Given the description of an element on the screen output the (x, y) to click on. 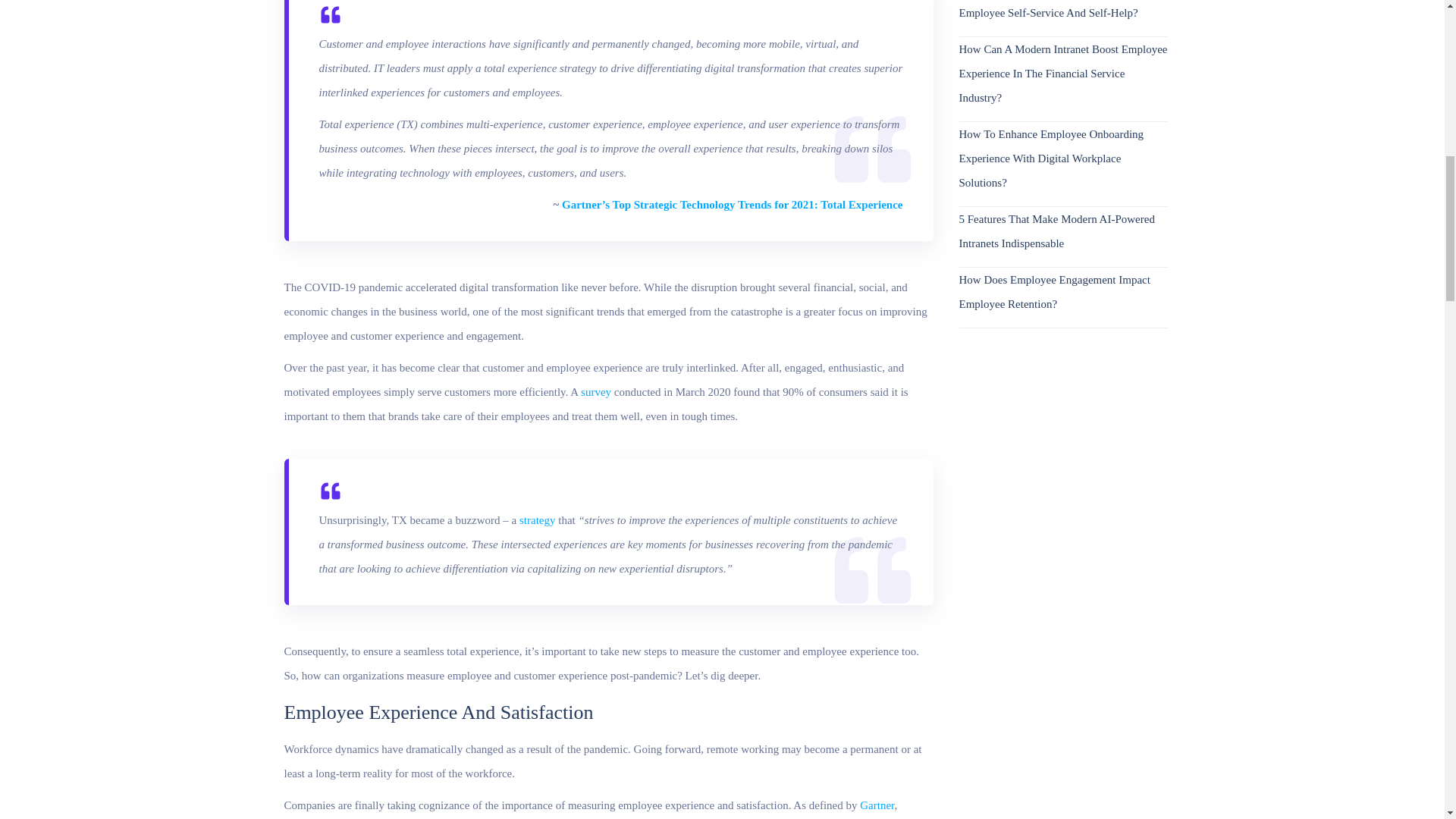
How does Employee Engagement Impact Employee Retention? (1062, 291)
